Given the description of an element on the screen output the (x, y) to click on. 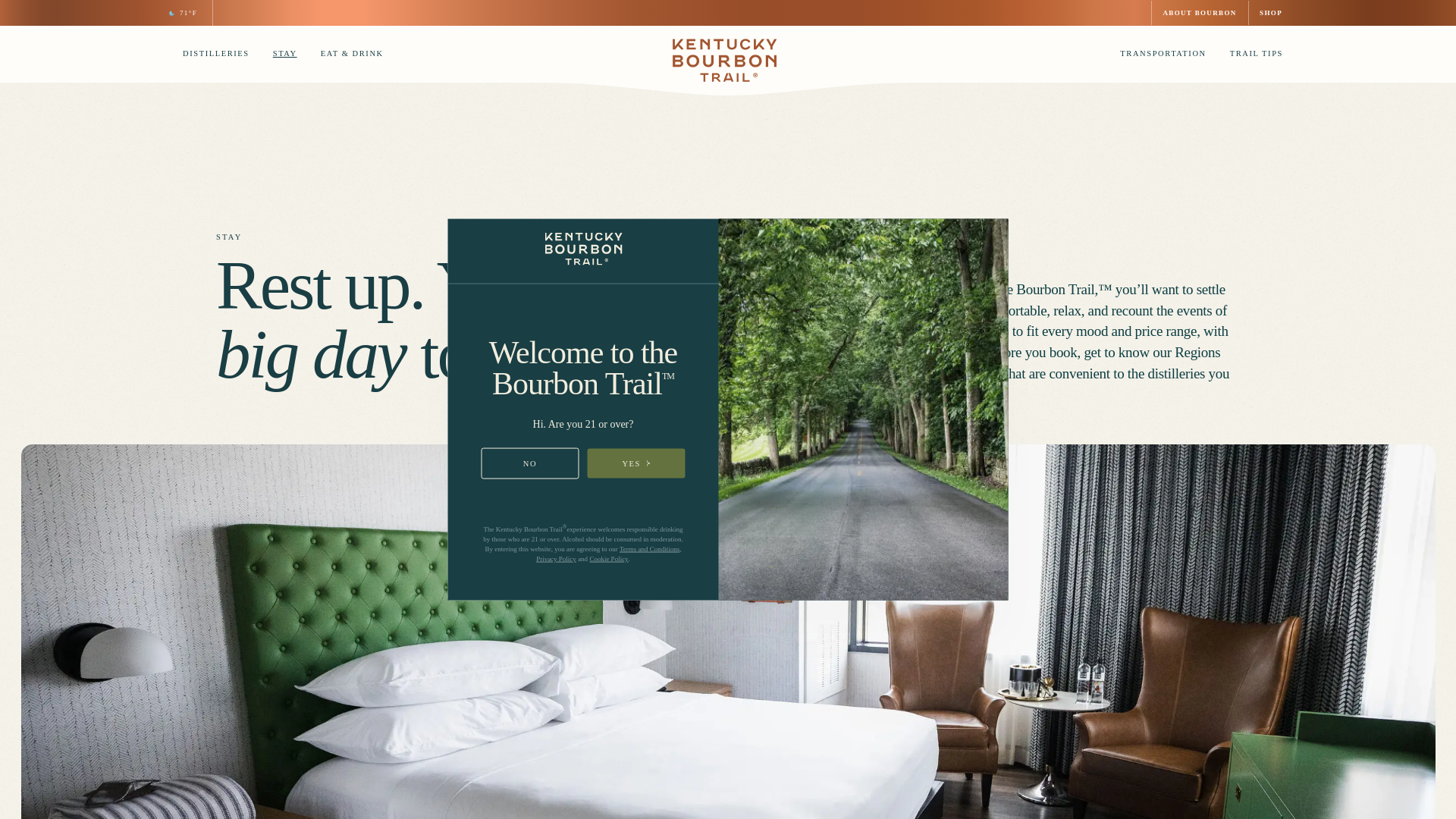
TRANSPORTATION (1157, 55)
DISTILLERIES (210, 55)
ABOUT BOURBON (1199, 12)
STAY (279, 55)
TRAIL TIPS (1251, 55)
SHOP (1270, 12)
